Given the description of an element on the screen output the (x, y) to click on. 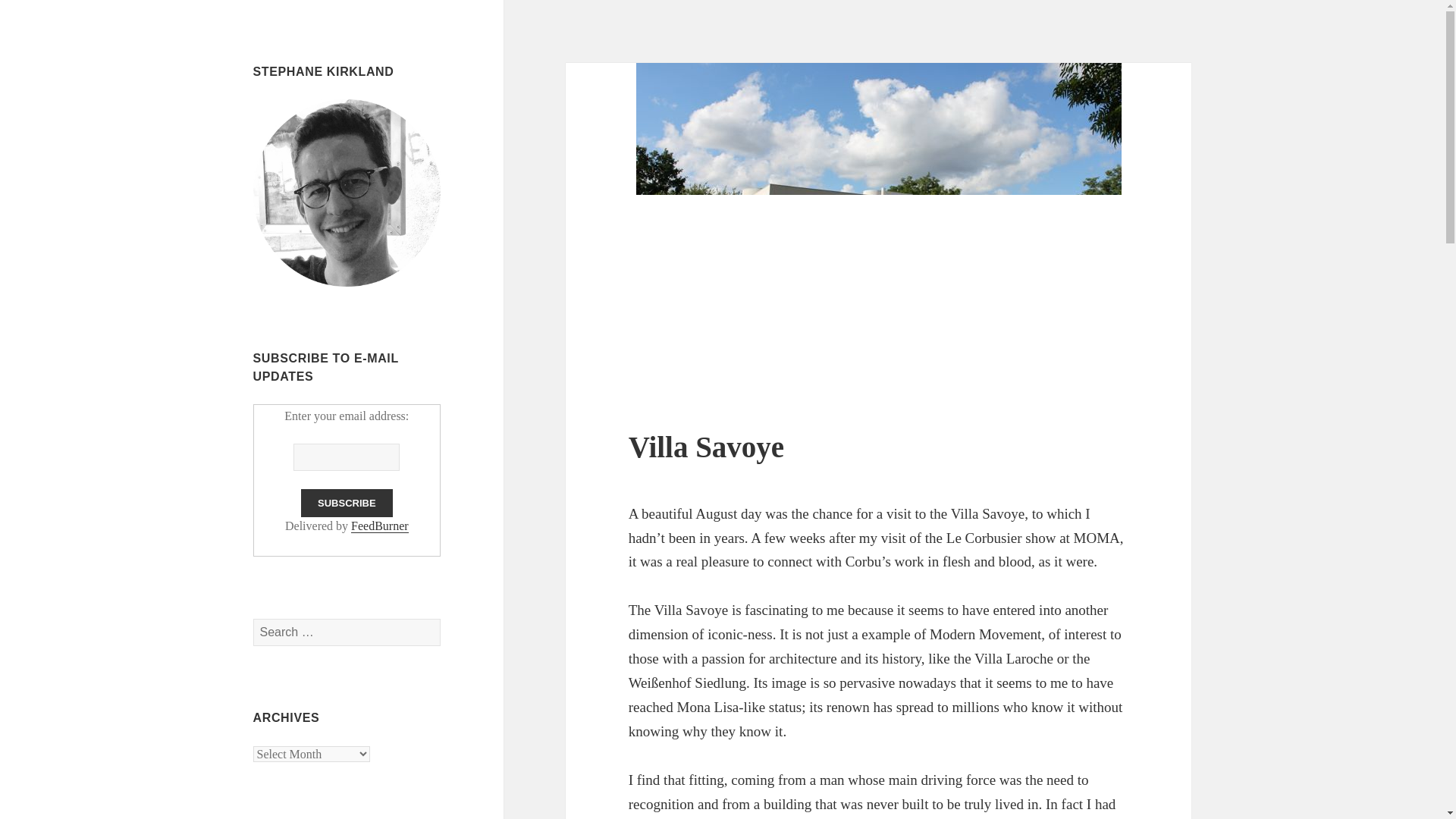
FeedBurner (379, 526)
Subscribe (347, 502)
Subscribe (347, 502)
